Given the description of an element on the screen output the (x, y) to click on. 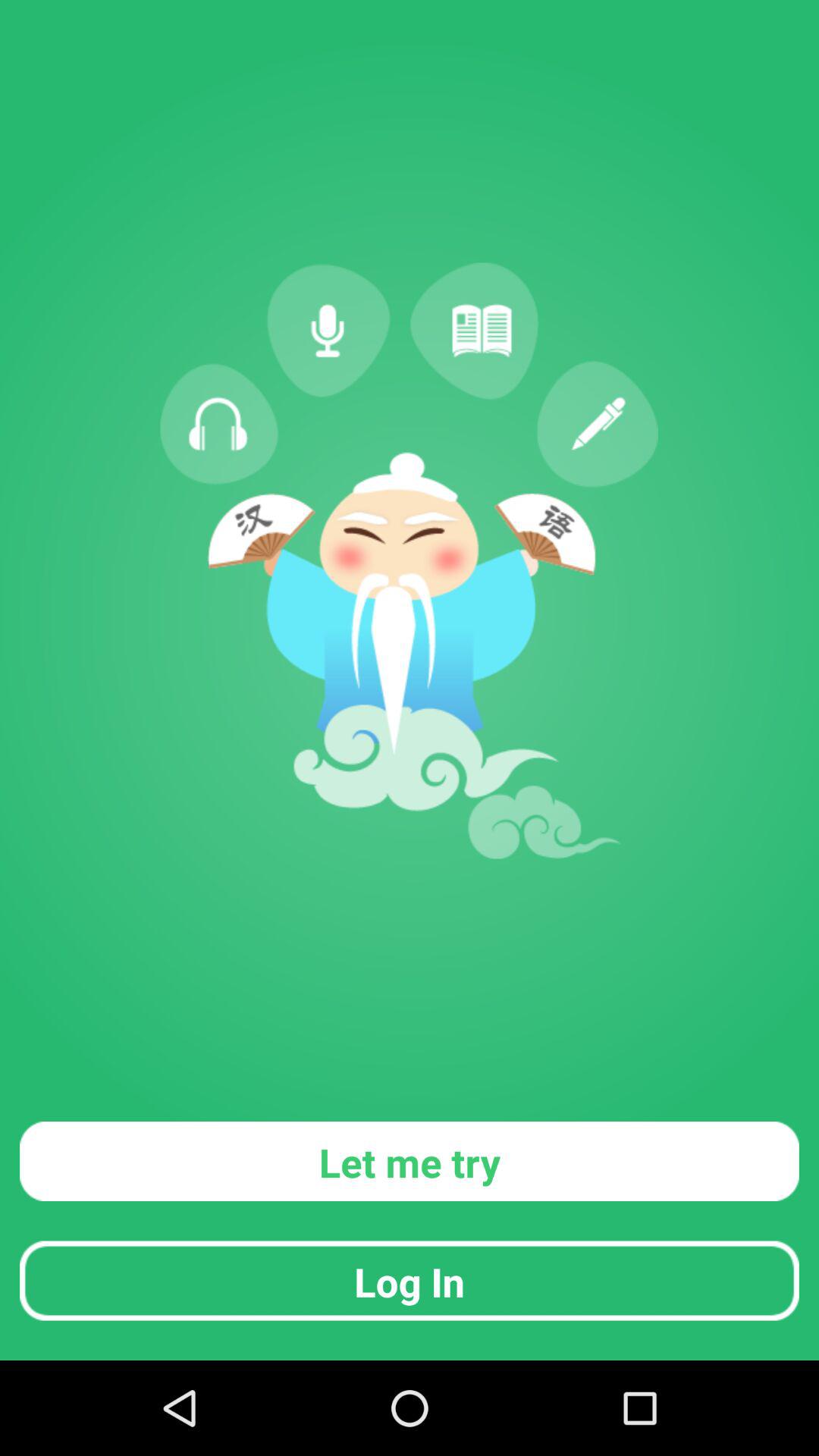
turn on let me try item (409, 1161)
